Given the description of an element on the screen output the (x, y) to click on. 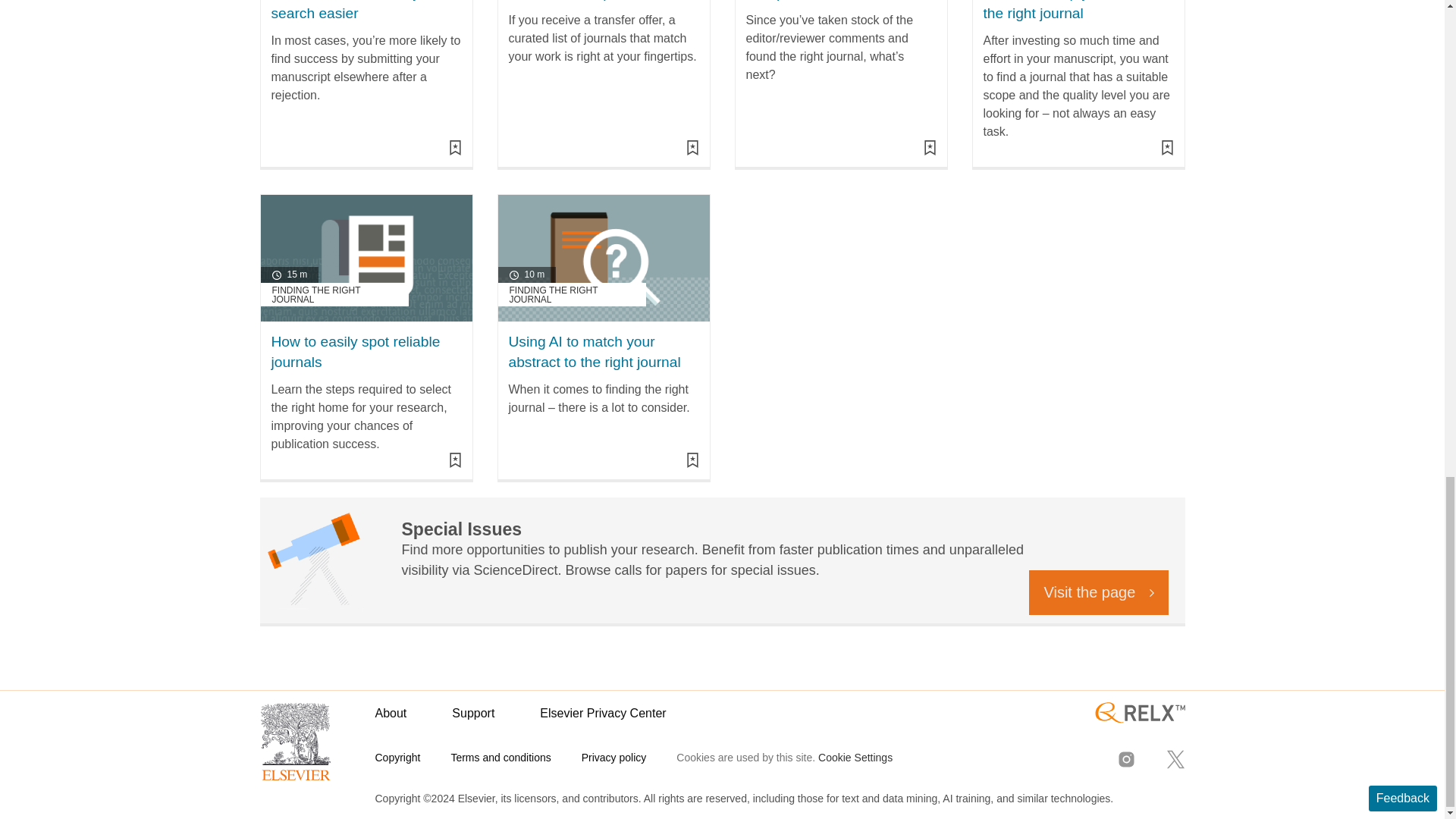
View and update cookie settings (855, 757)
Go to the About page (390, 712)
